Given the description of an element on the screen output the (x, y) to click on. 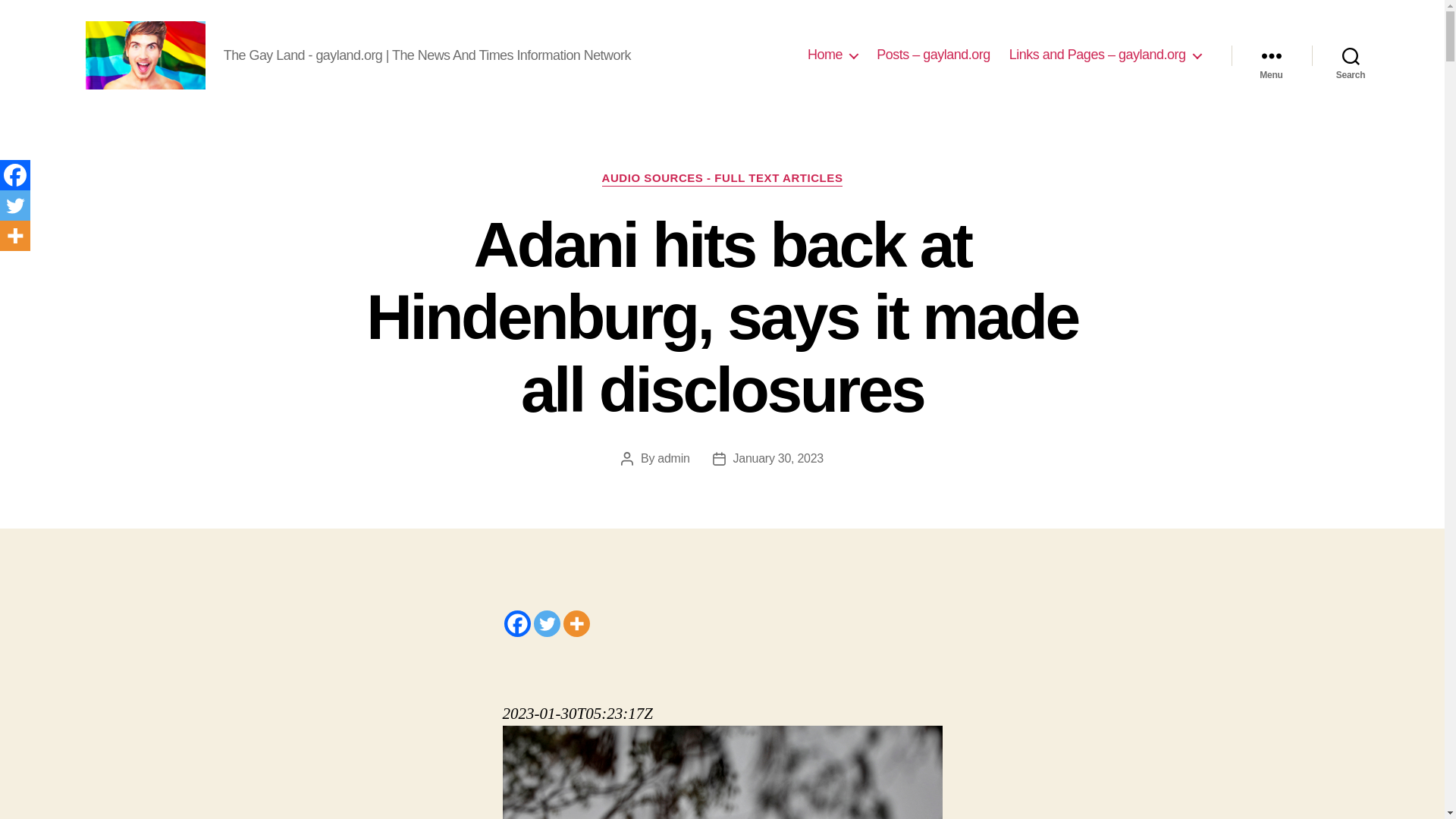
January 30, 2023 (778, 458)
More (15, 235)
Home (832, 54)
Menu (1271, 55)
AUDIO SOURCES - FULL TEXT ARTICLES (722, 178)
Facebook (15, 174)
Facebook (516, 623)
Search (1350, 55)
Twitter (15, 205)
Twitter (547, 623)
